Given the description of an element on the screen output the (x, y) to click on. 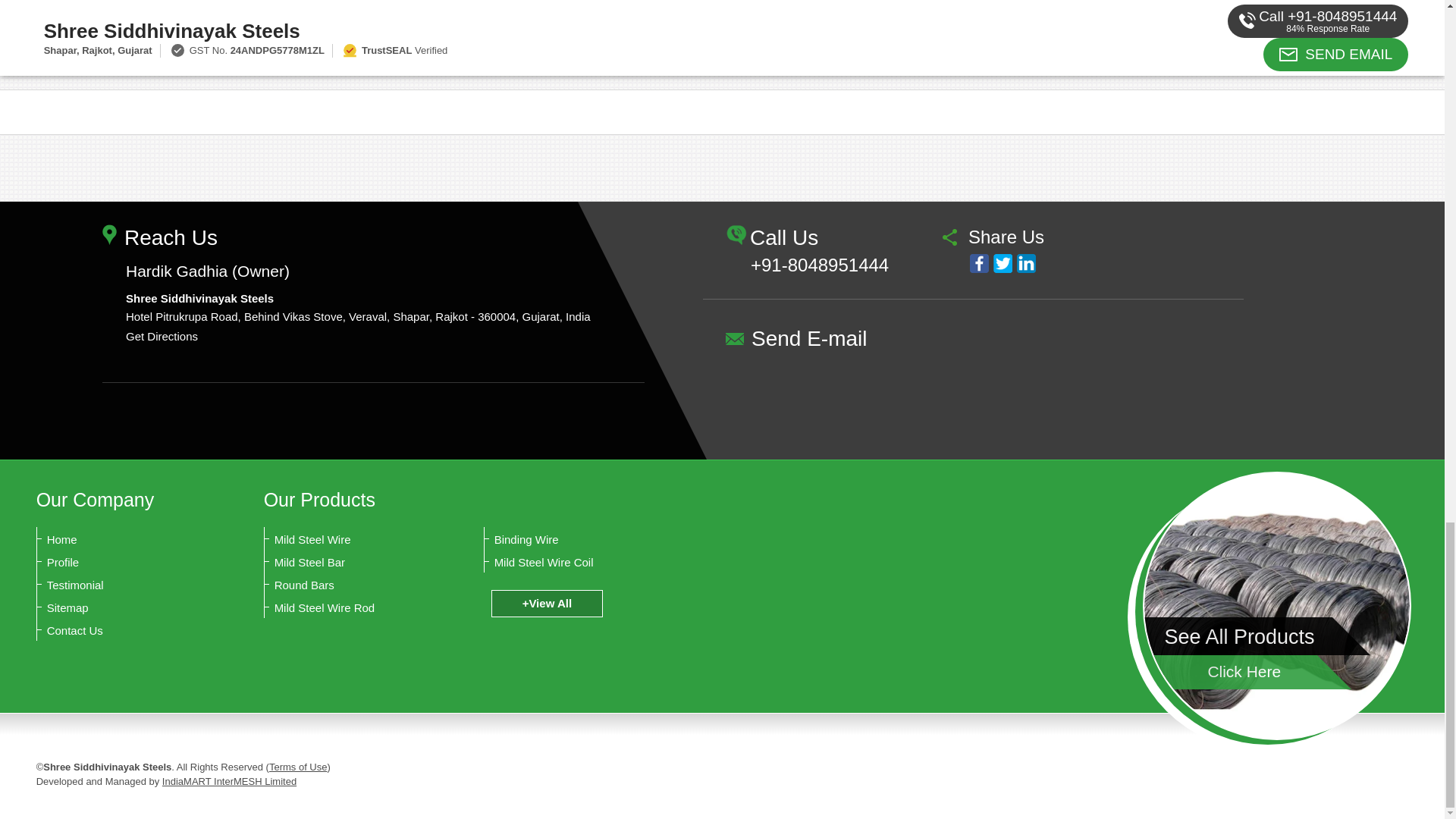
Twitter (1001, 262)
Mild Steel Wire Rod (348, 607)
Contact Us (121, 630)
Binding Wire (568, 539)
Facebook (978, 262)
Mild Steel Wire Coil (568, 562)
LinkedIn (1025, 262)
Testimonial (121, 585)
Get Directions (161, 336)
Sitemap (121, 607)
